Given the description of an element on the screen output the (x, y) to click on. 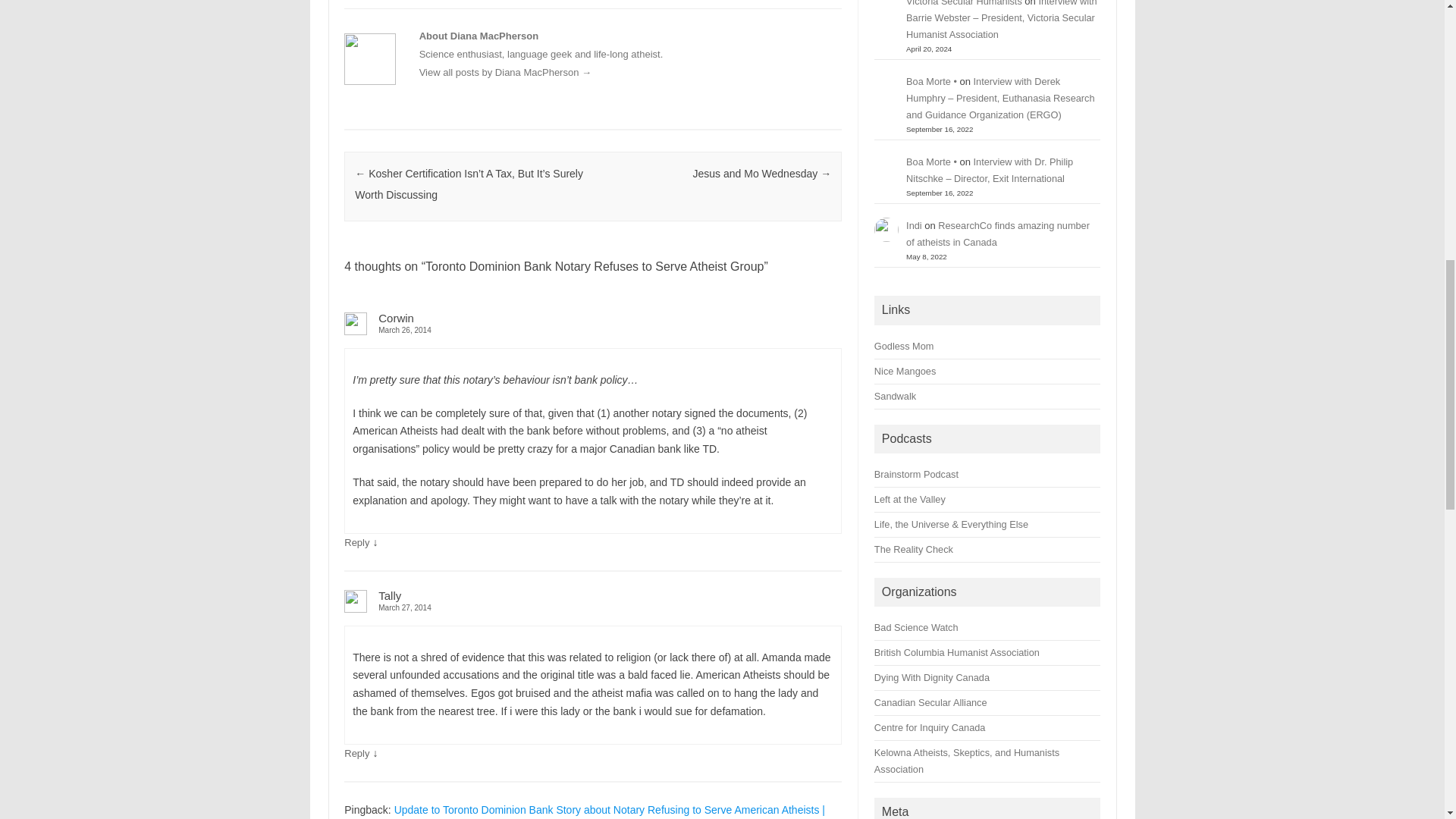
March 27, 2014 (592, 607)
Reply (356, 753)
March 26, 2014 (592, 329)
Reply (356, 542)
